Given the description of an element on the screen output the (x, y) to click on. 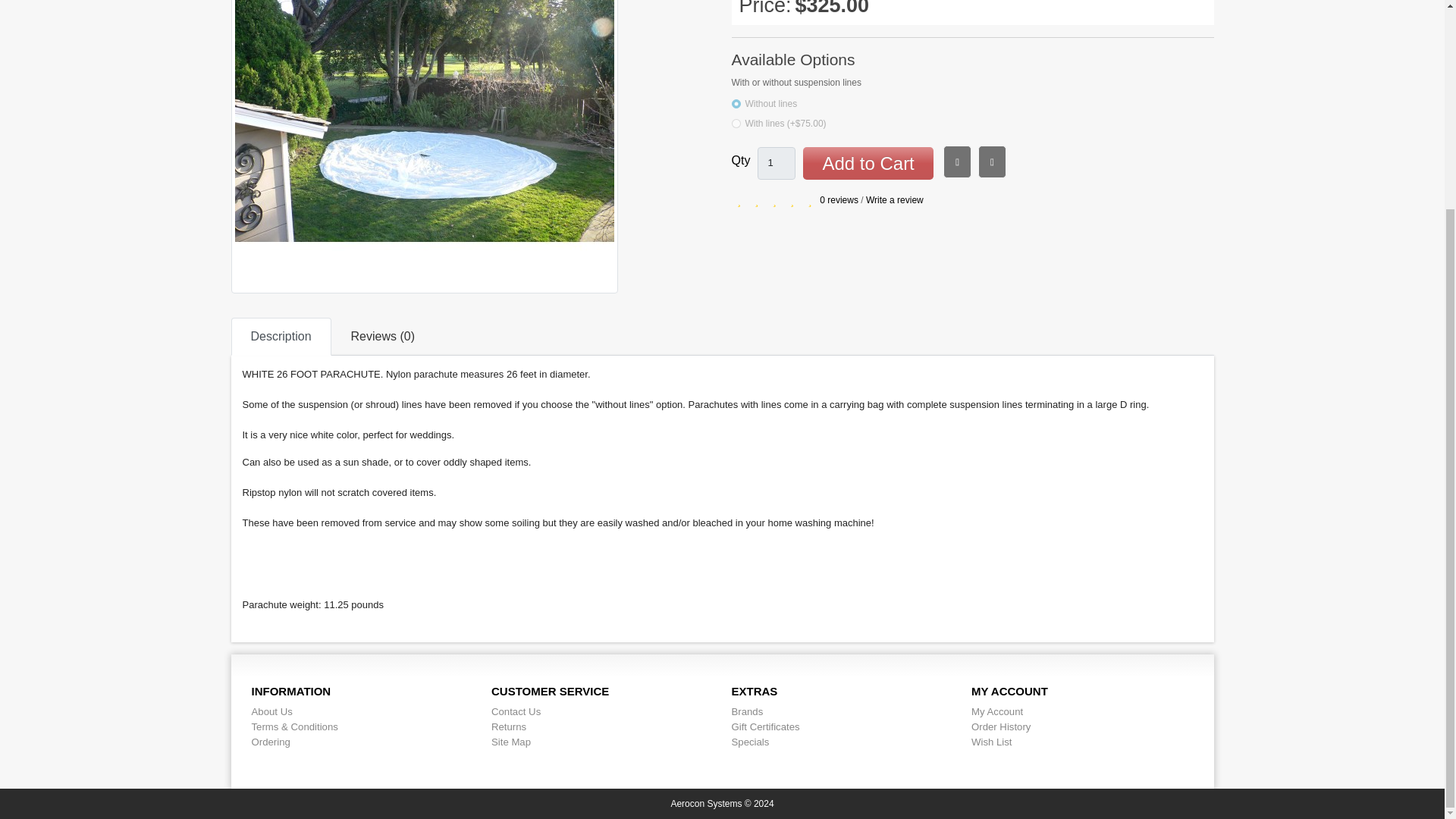
54 (734, 122)
26 foot Diameter White Parachute (423, 146)
1 (775, 163)
26 foot Diameter White Parachute (423, 104)
55 (734, 103)
